Given the description of an element on the screen output the (x, y) to click on. 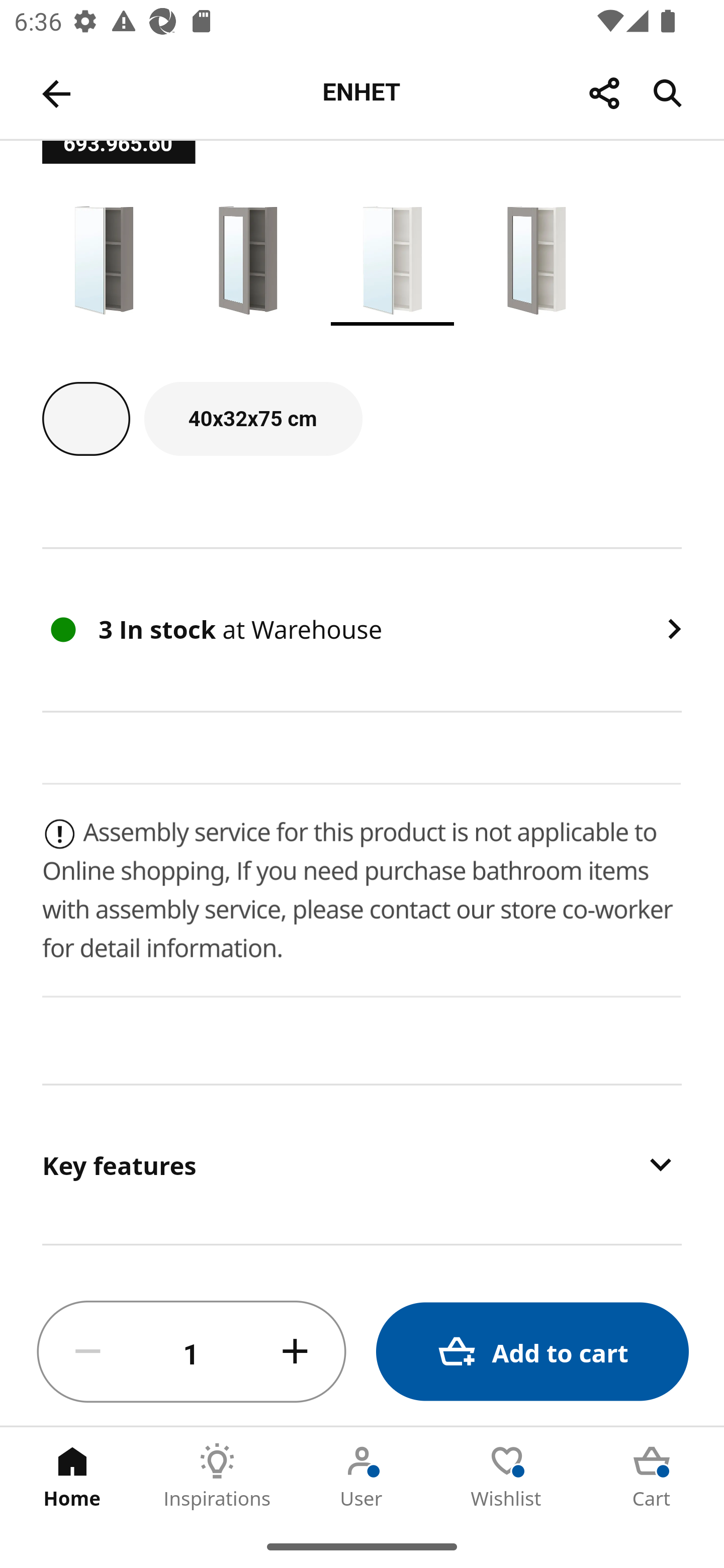
40x32x75 cm (253, 419)
3 In stock at Warehouse (361, 629)
Key features (361, 1163)
Add to cart (531, 1352)
1 (191, 1352)
Home
Tab 1 of 5 (72, 1476)
Inspirations
Tab 2 of 5 (216, 1476)
User
Tab 3 of 5 (361, 1476)
Wishlist
Tab 4 of 5 (506, 1476)
Cart
Tab 5 of 5 (651, 1476)
